Given the description of an element on the screen output the (x, y) to click on. 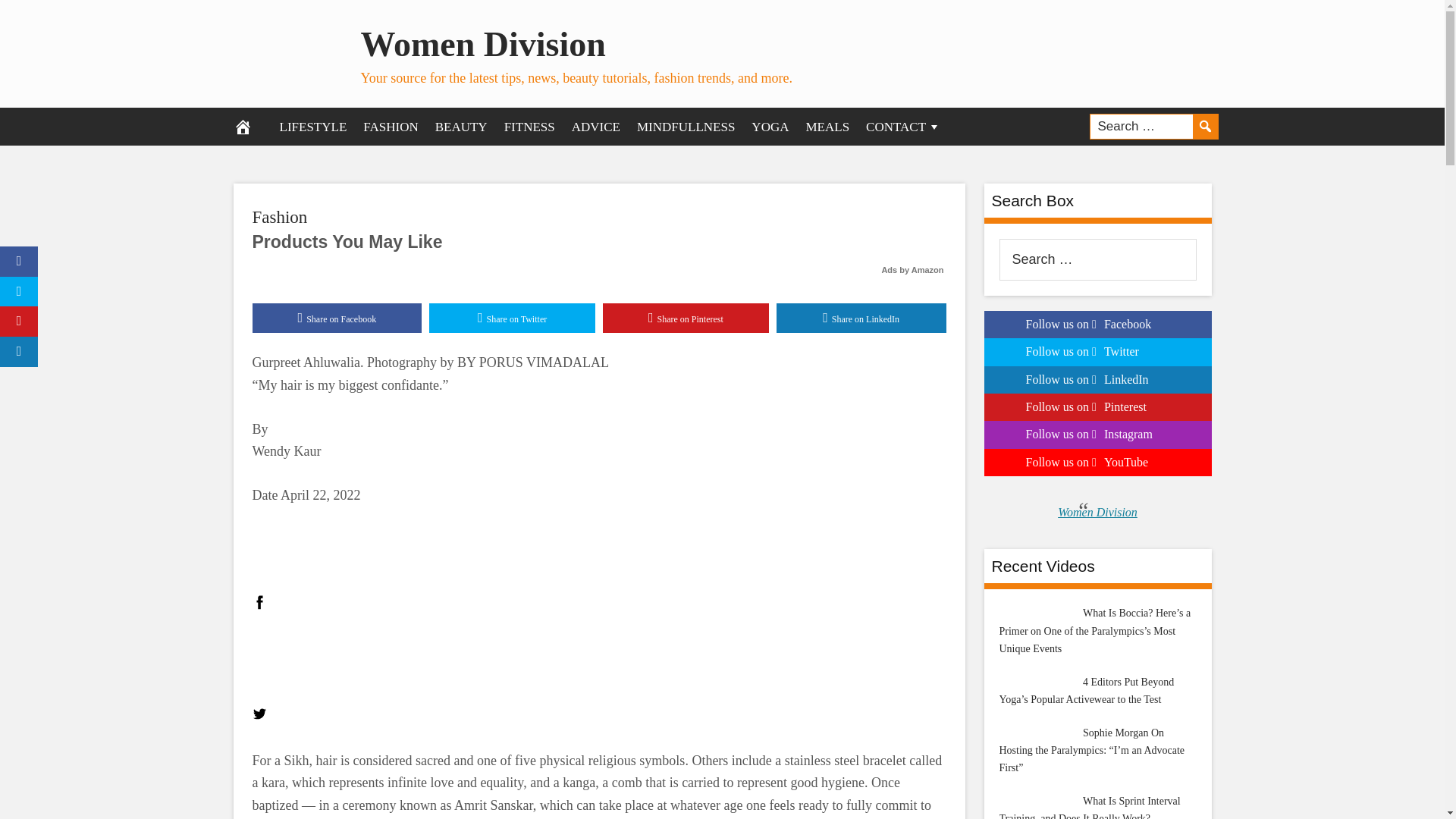
BEAUTY (461, 126)
Twitter (258, 713)
MINDFULLNESS (685, 126)
Fashion (279, 217)
FITNESS (529, 126)
Women Division (483, 43)
ADVICE (595, 126)
